Given the description of an element on the screen output the (x, y) to click on. 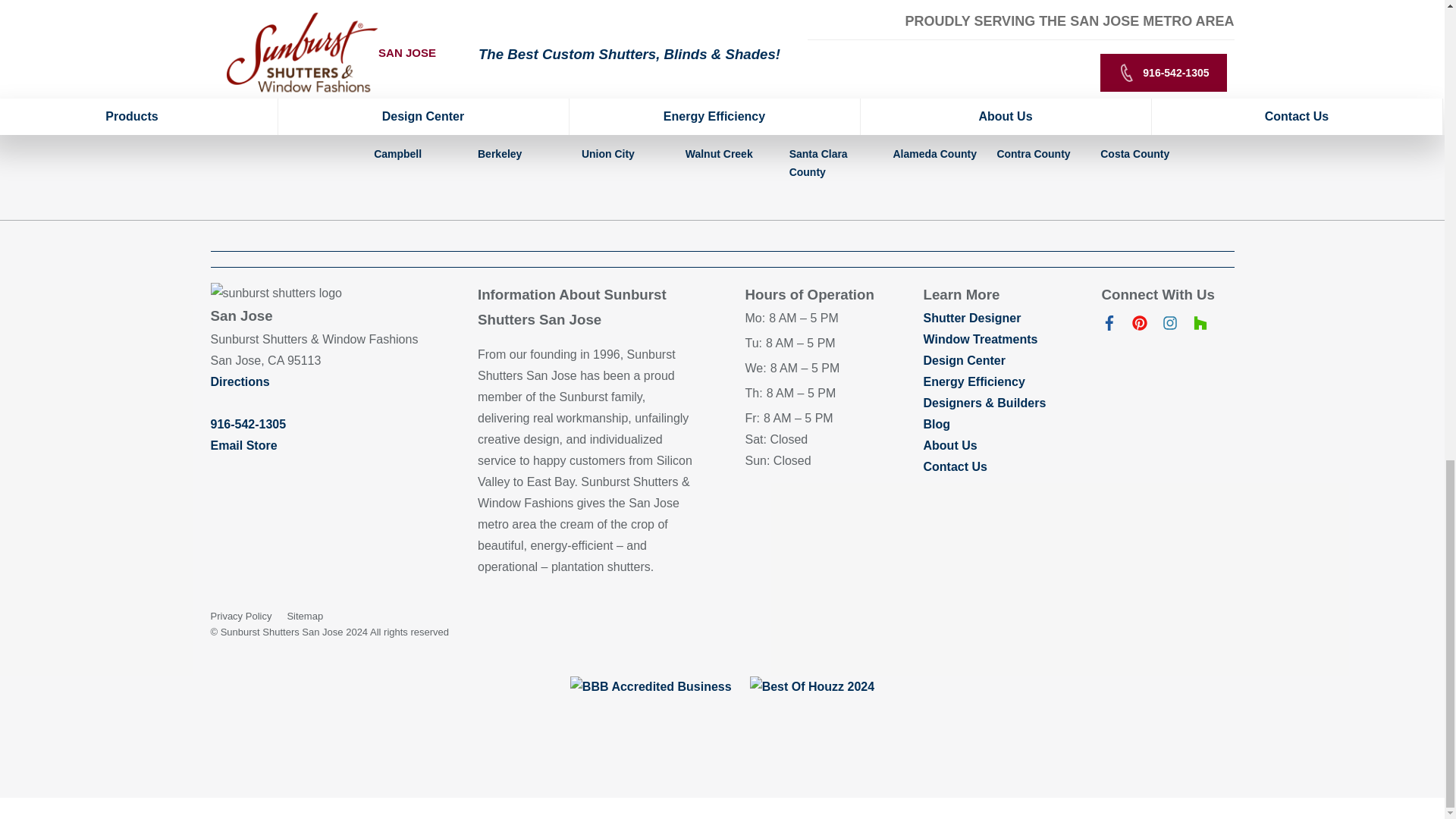
Save us on Houzz (1199, 326)
Follow us on Pinterest (1139, 326)
Like us on Facebook (1108, 326)
Best Of Houzz 2024 (812, 686)
Follow us on Instagram (1168, 326)
BBB Accredited Business (651, 686)
